Given the description of an element on the screen output the (x, y) to click on. 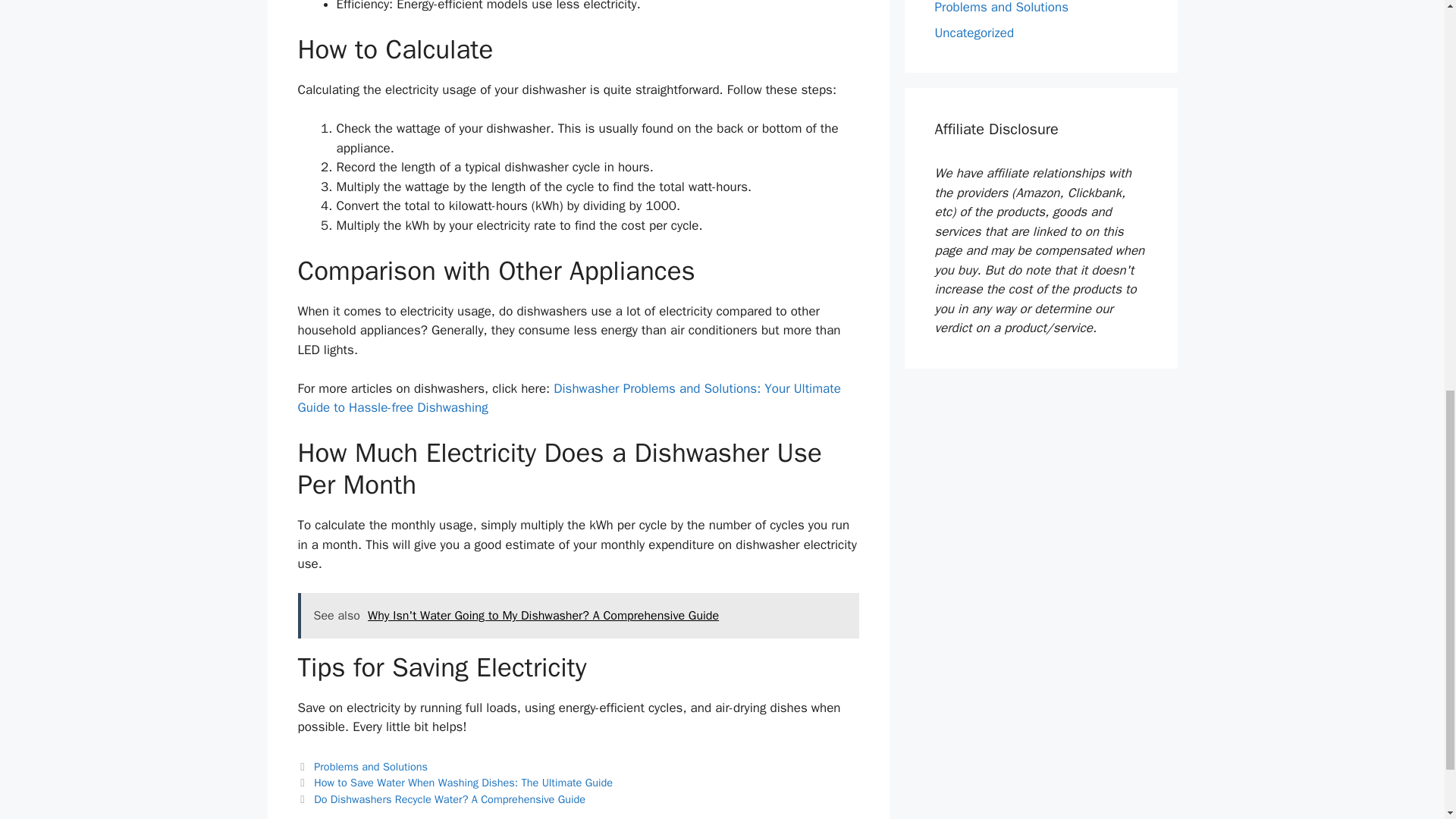
Uncategorized (973, 32)
How to Save Water When Washing Dishes: The Ultimate Guide (463, 782)
Do Dishwashers Recycle Water? A Comprehensive Guide (449, 798)
Problems and Solutions (1001, 7)
Problems and Solutions (371, 766)
